Given the description of an element on the screen output the (x, y) to click on. 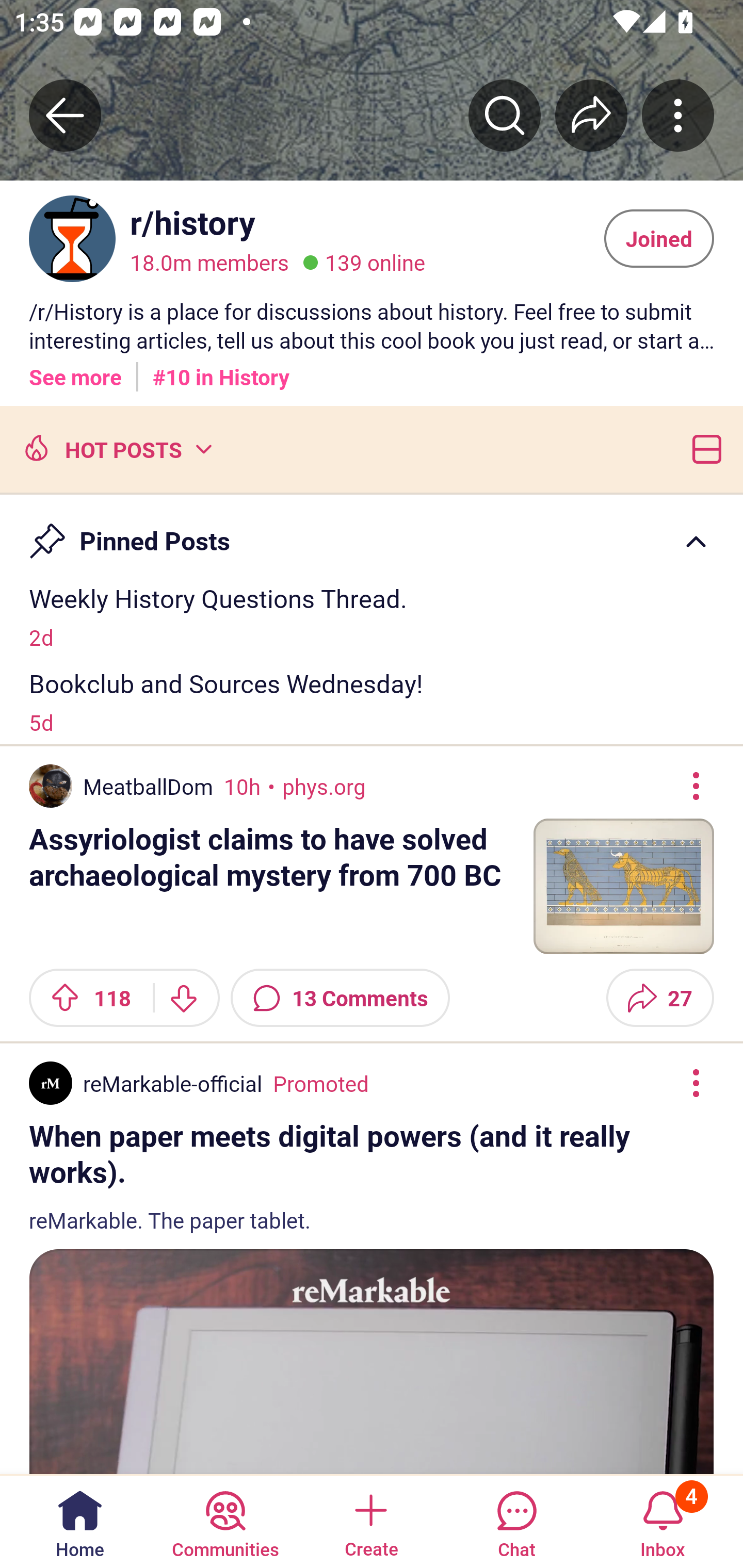
Back (64, 115)
Search r/﻿history (504, 115)
Share r/﻿history (591, 115)
More community actions (677, 115)
Hot posts HOT POSTS (116, 448)
Card (703, 448)
Pin Pinned Posts Caret (371, 531)
Weekly History Questions Thread. 2d (371, 615)
Bookclub and Sources Wednesday! 5d (371, 701)
Home (80, 1520)
Communities (225, 1520)
Create a post Create (370, 1520)
Chat (516, 1520)
Inbox, has 4 notifications 4 Inbox (662, 1520)
